Given the description of an element on the screen output the (x, y) to click on. 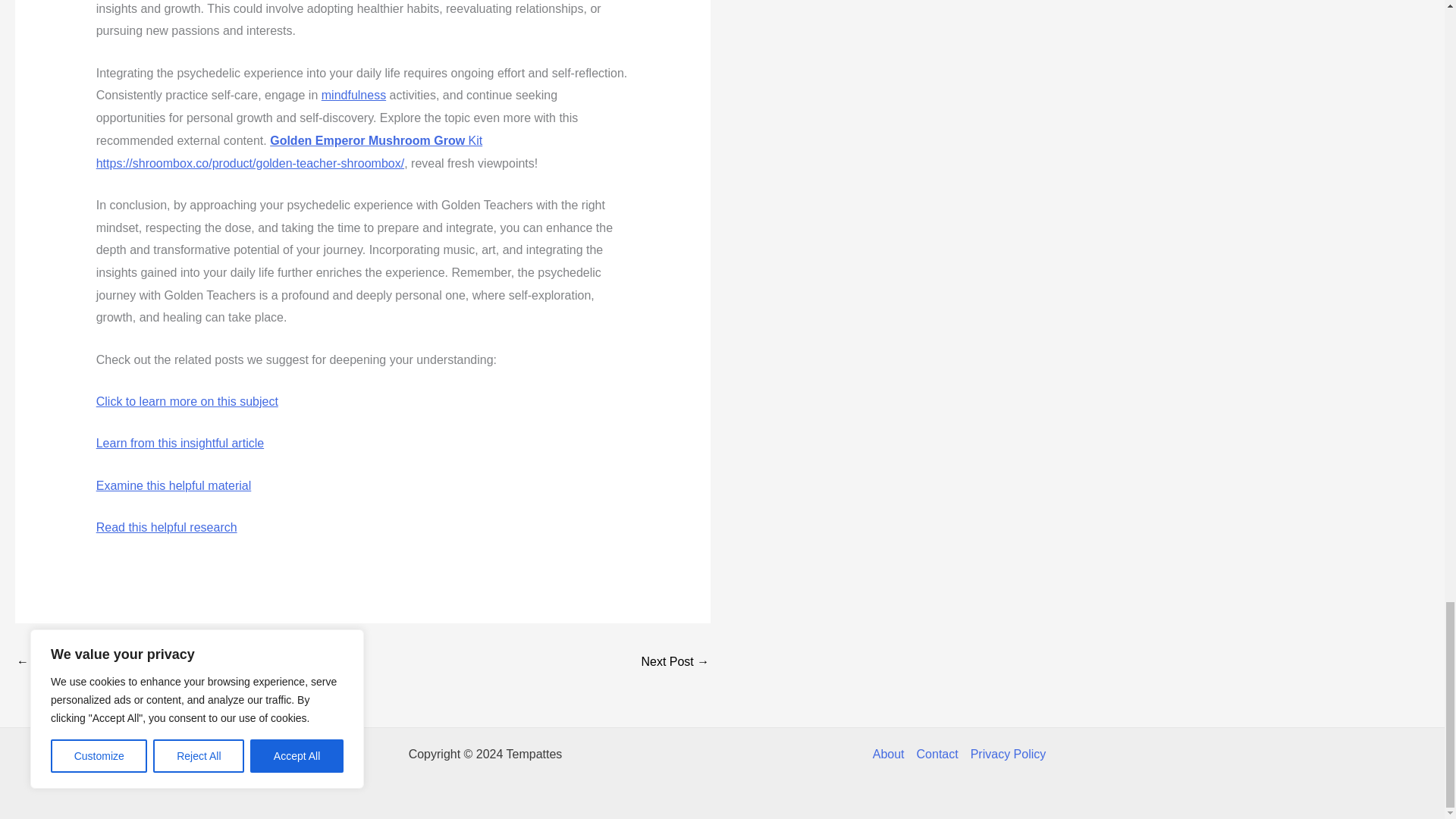
Read this helpful research (166, 526)
Learn from this insightful article (179, 442)
mindfulness (353, 94)
Click to learn more on this subject (187, 400)
Examine this helpful material (173, 485)
